Given the description of an element on the screen output the (x, y) to click on. 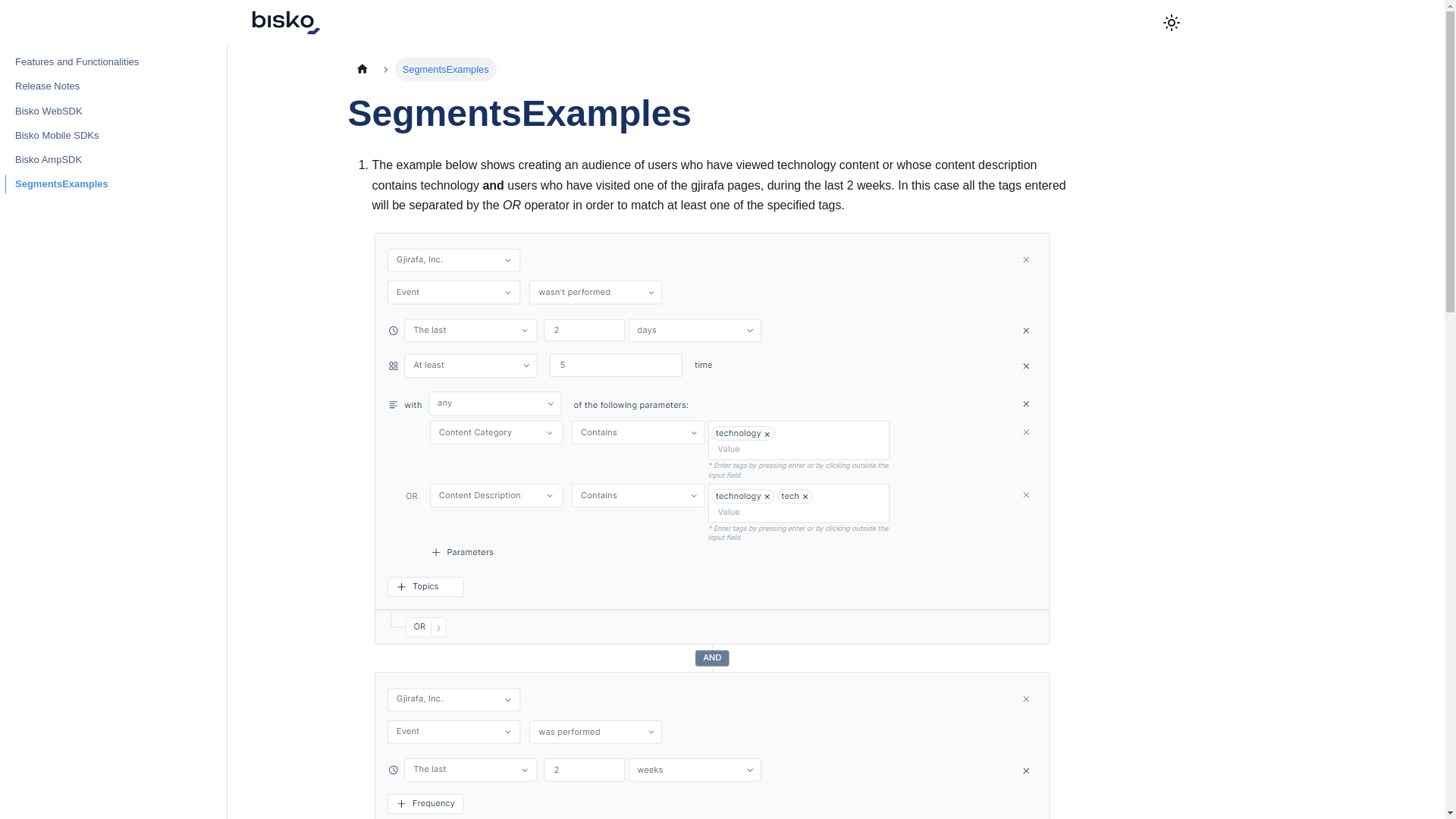
SegmentsExamples (110, 183)
Bisko AmpSDK (110, 159)
Features and Functionalities (110, 61)
Bisko Mobile SDKs (110, 135)
Bisko WebSDK (110, 110)
Release Notes (110, 86)
